Given the description of an element on the screen output the (x, y) to click on. 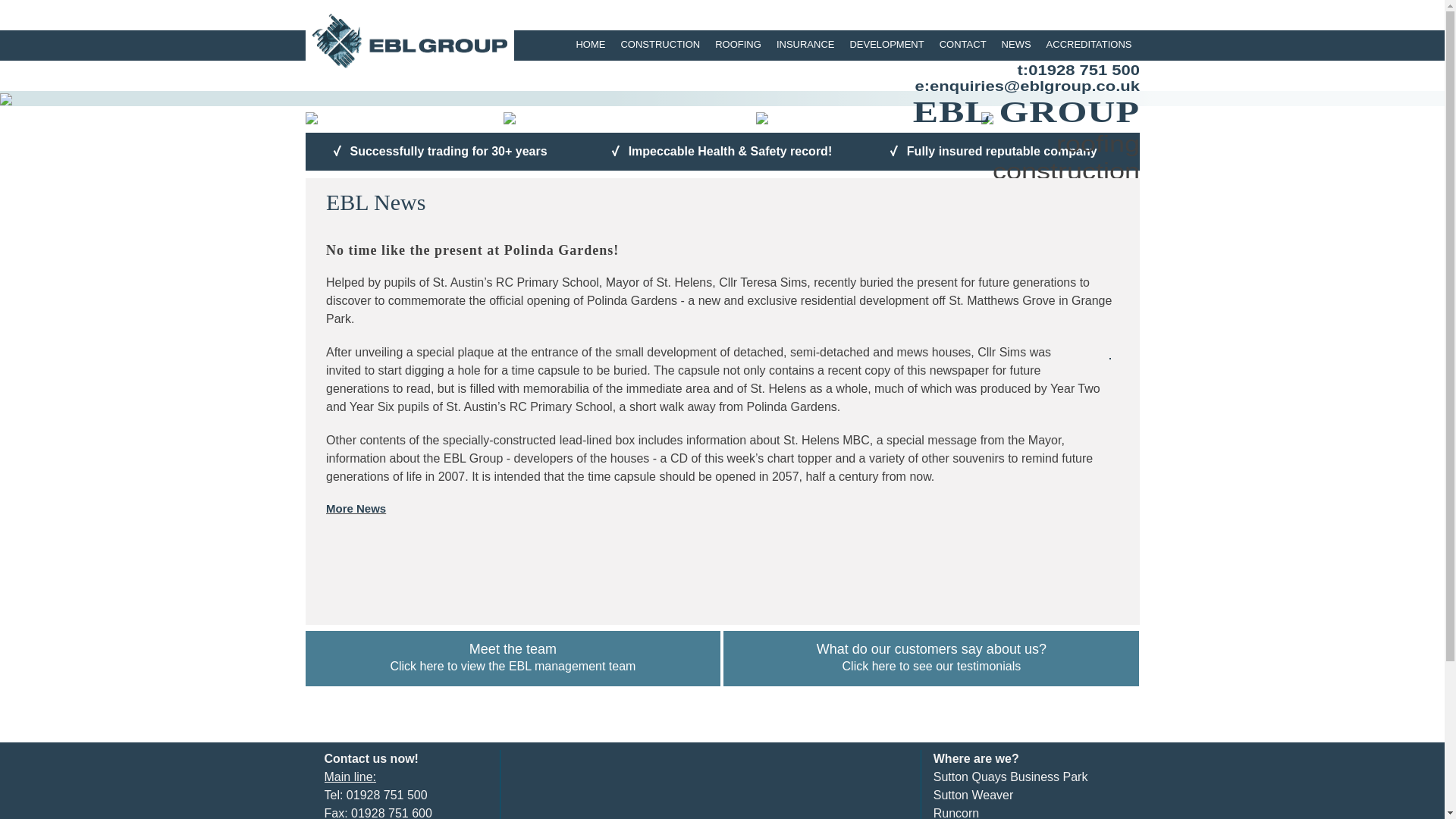
DEVELOPMENT (886, 44)
NEWS (1016, 44)
INSURANCE (805, 44)
HOME (589, 44)
More News (355, 508)
ACCREDITATIONS (1089, 44)
CONSTRUCTION (659, 44)
ROOFING (512, 658)
CONTACT (737, 44)
